Given the description of an element on the screen output the (x, y) to click on. 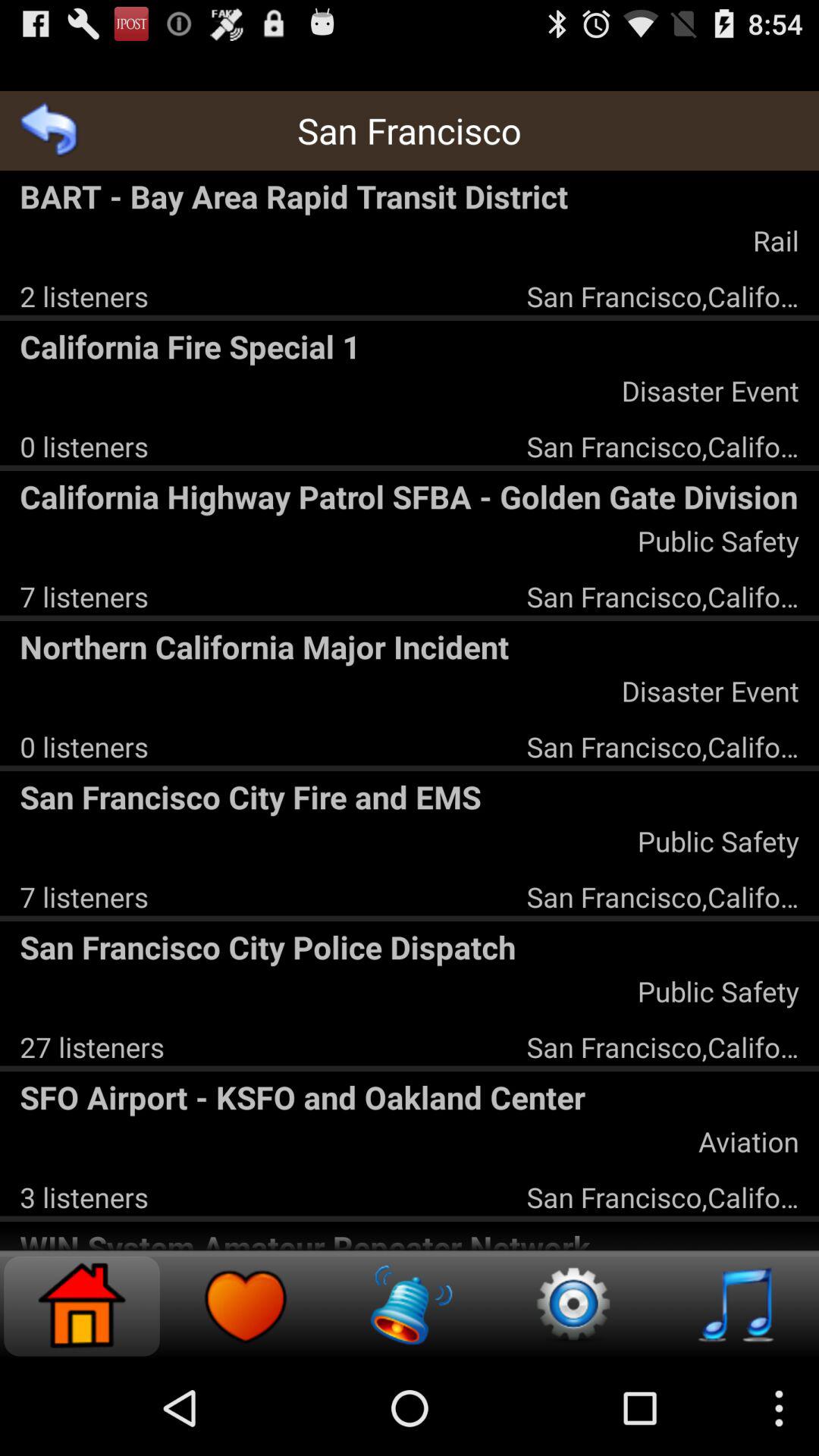
turn on the app above disaster event app (409, 646)
